Given the description of an element on the screen output the (x, y) to click on. 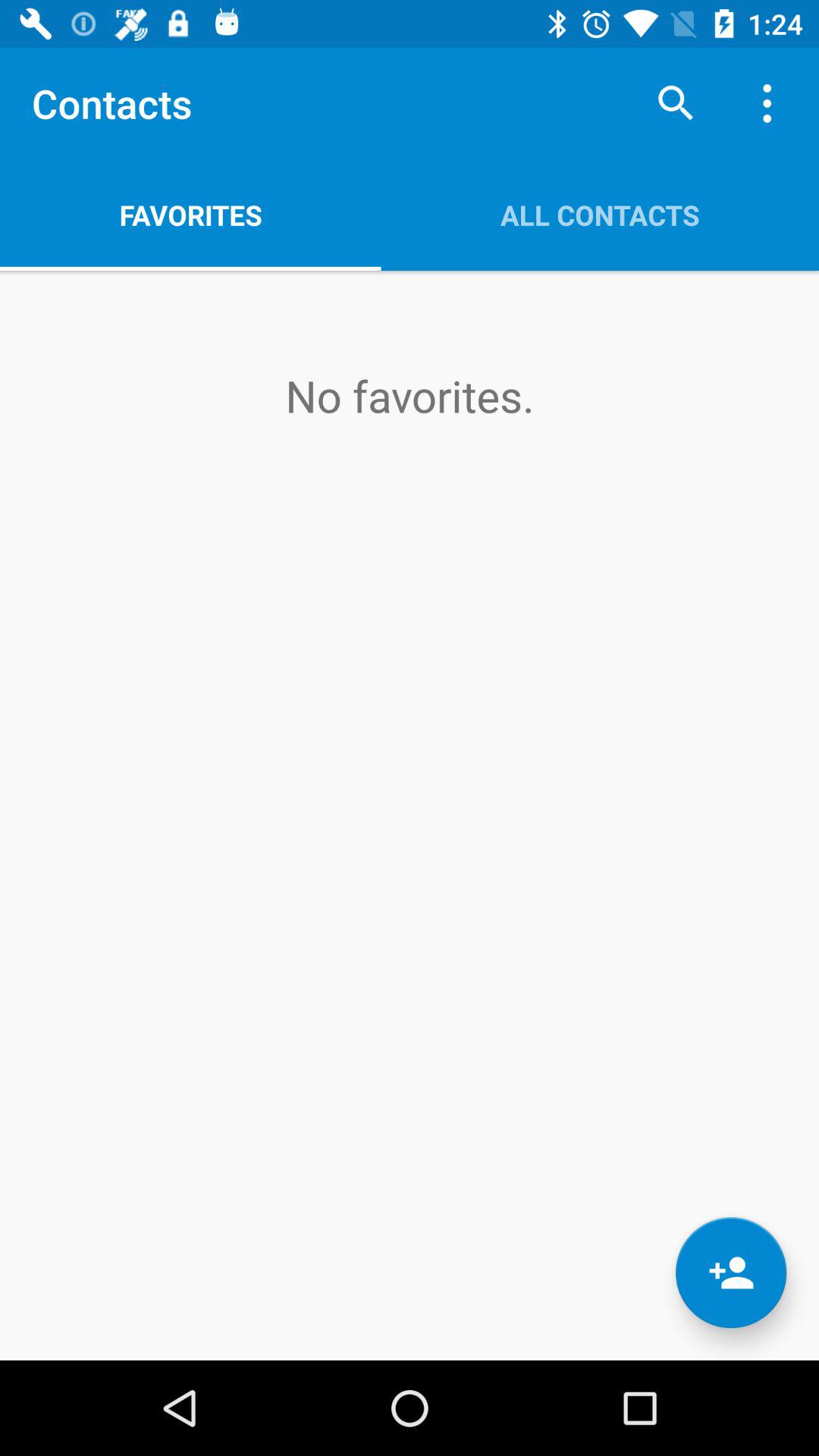
turn on app above the all contacts app (675, 103)
